Given the description of an element on the screen output the (x, y) to click on. 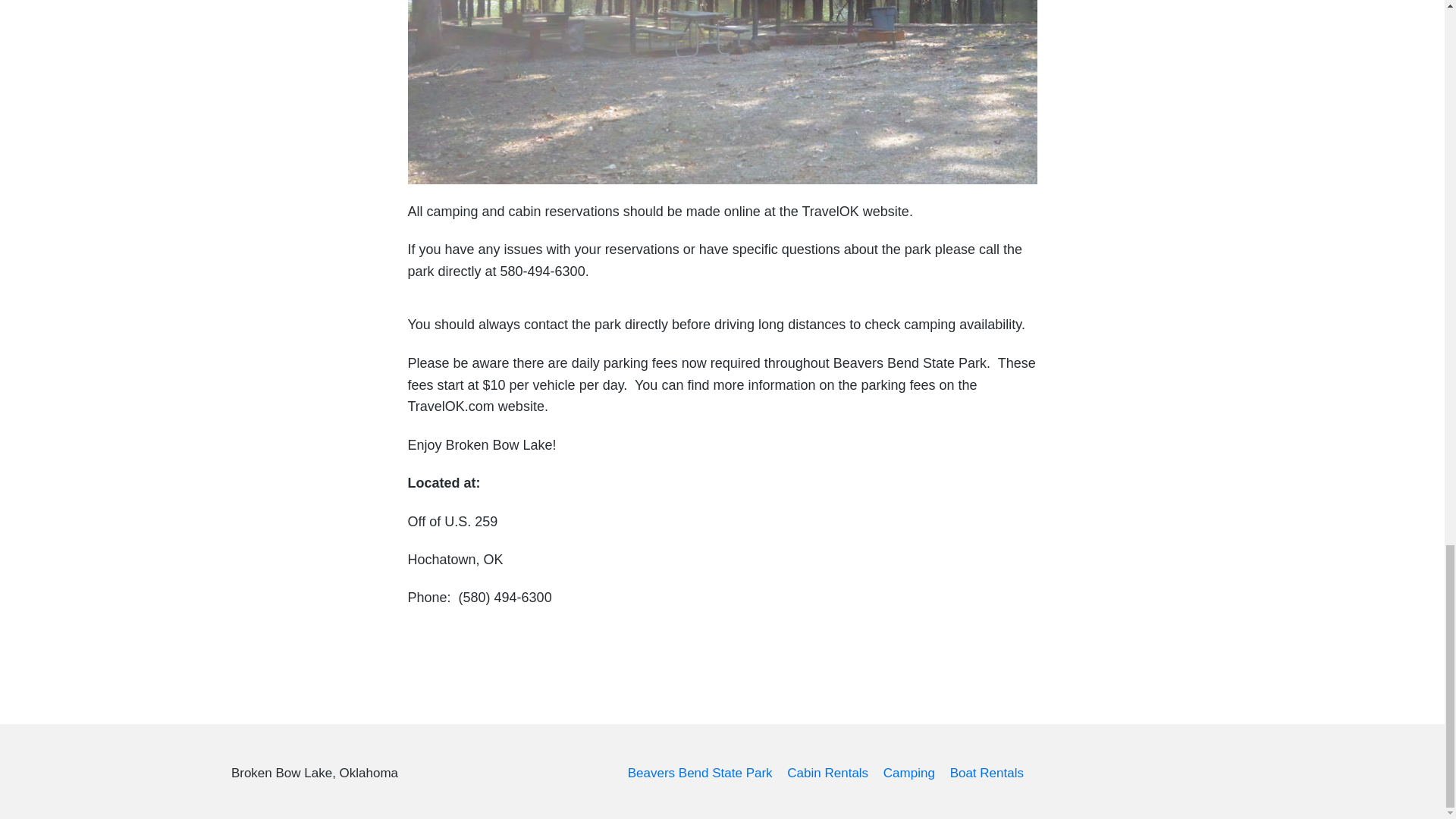
Boat Rentals (986, 772)
Camping (908, 772)
Cabin Rentals (827, 772)
Beavers Bend State Park (700, 772)
